Given the description of an element on the screen output the (x, y) to click on. 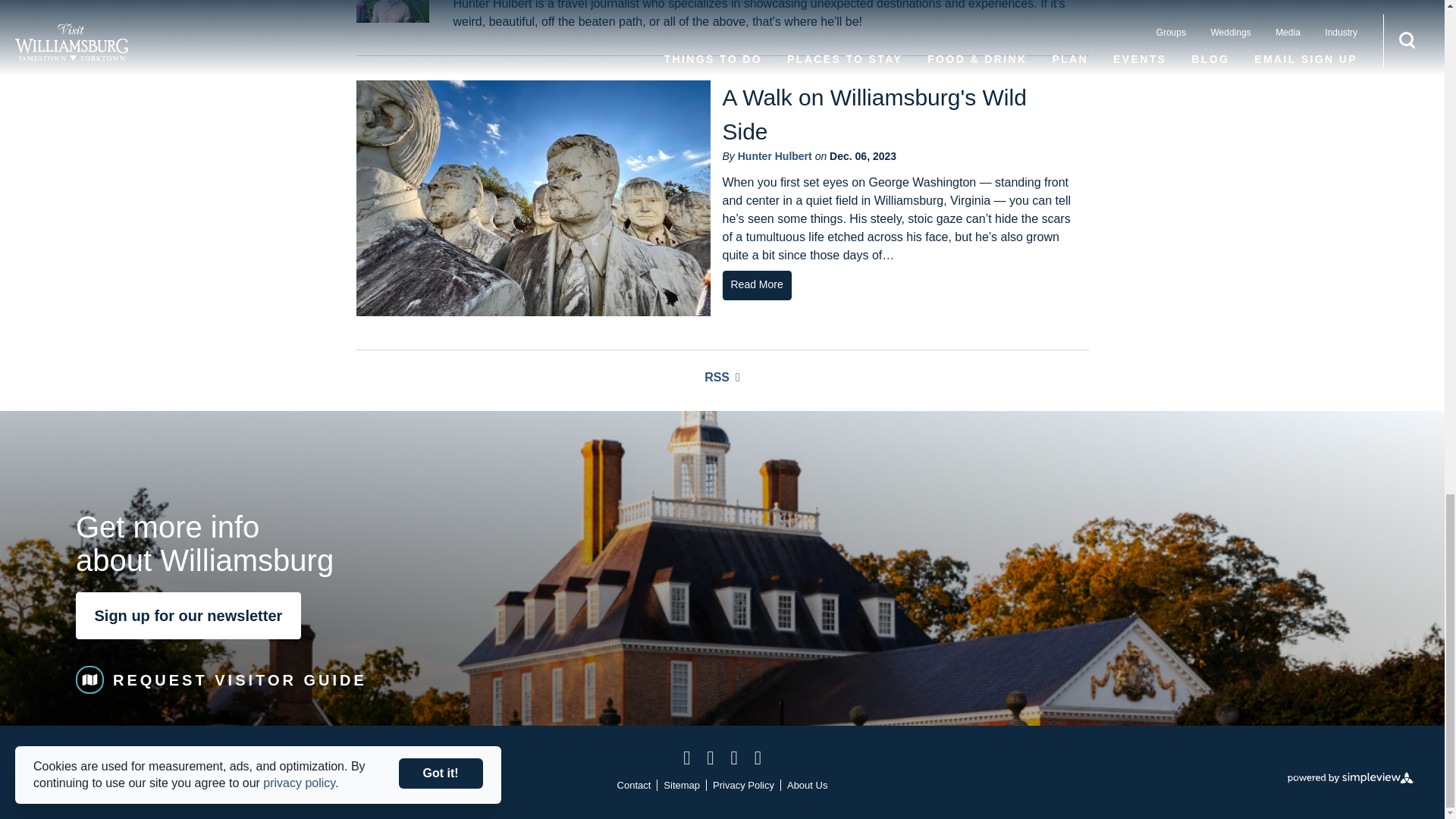
Contact (634, 785)
Sitemap (682, 785)
Privacy Policy (743, 785)
About Us (806, 785)
